Given the description of an element on the screen output the (x, y) to click on. 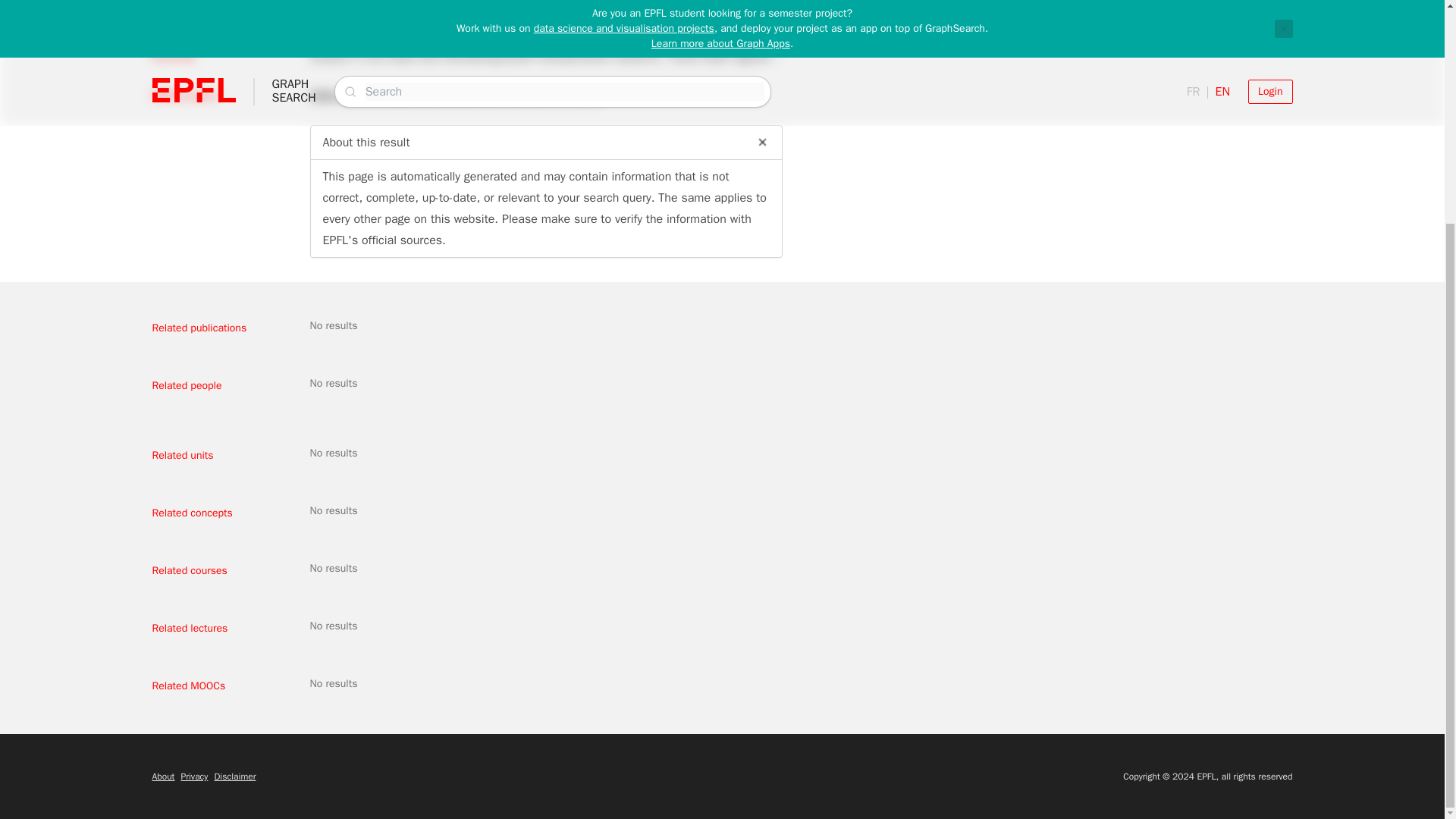
Disclaimer (235, 776)
About (162, 776)
Privacy (194, 776)
